Given the description of an element on the screen output the (x, y) to click on. 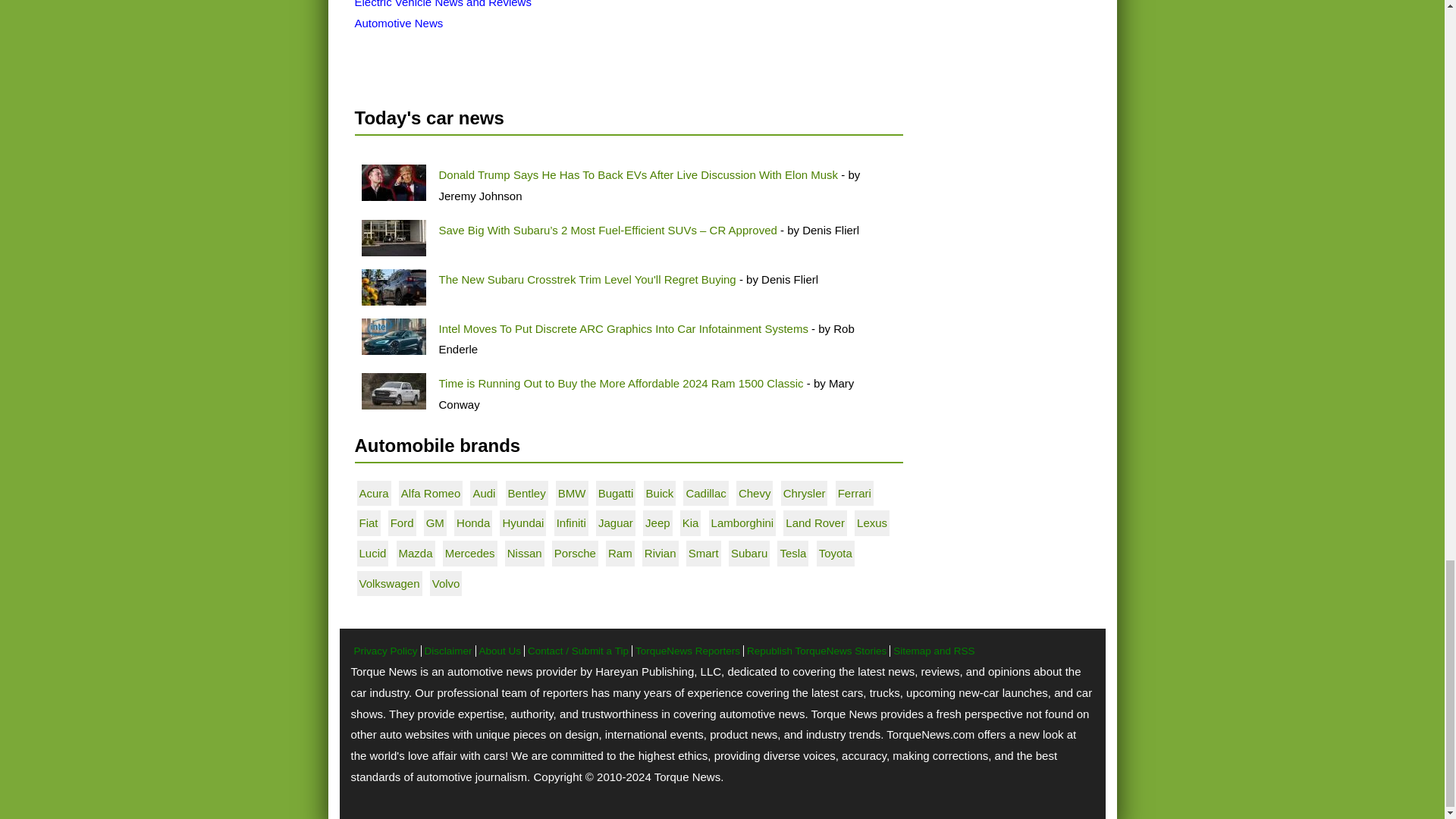
Audi (483, 492)
Alfa Romeo (430, 492)
Acura (373, 492)
Bentley (527, 492)
2024 Subaru Crosstrek Base trim rear view (393, 287)
